Given the description of an element on the screen output the (x, y) to click on. 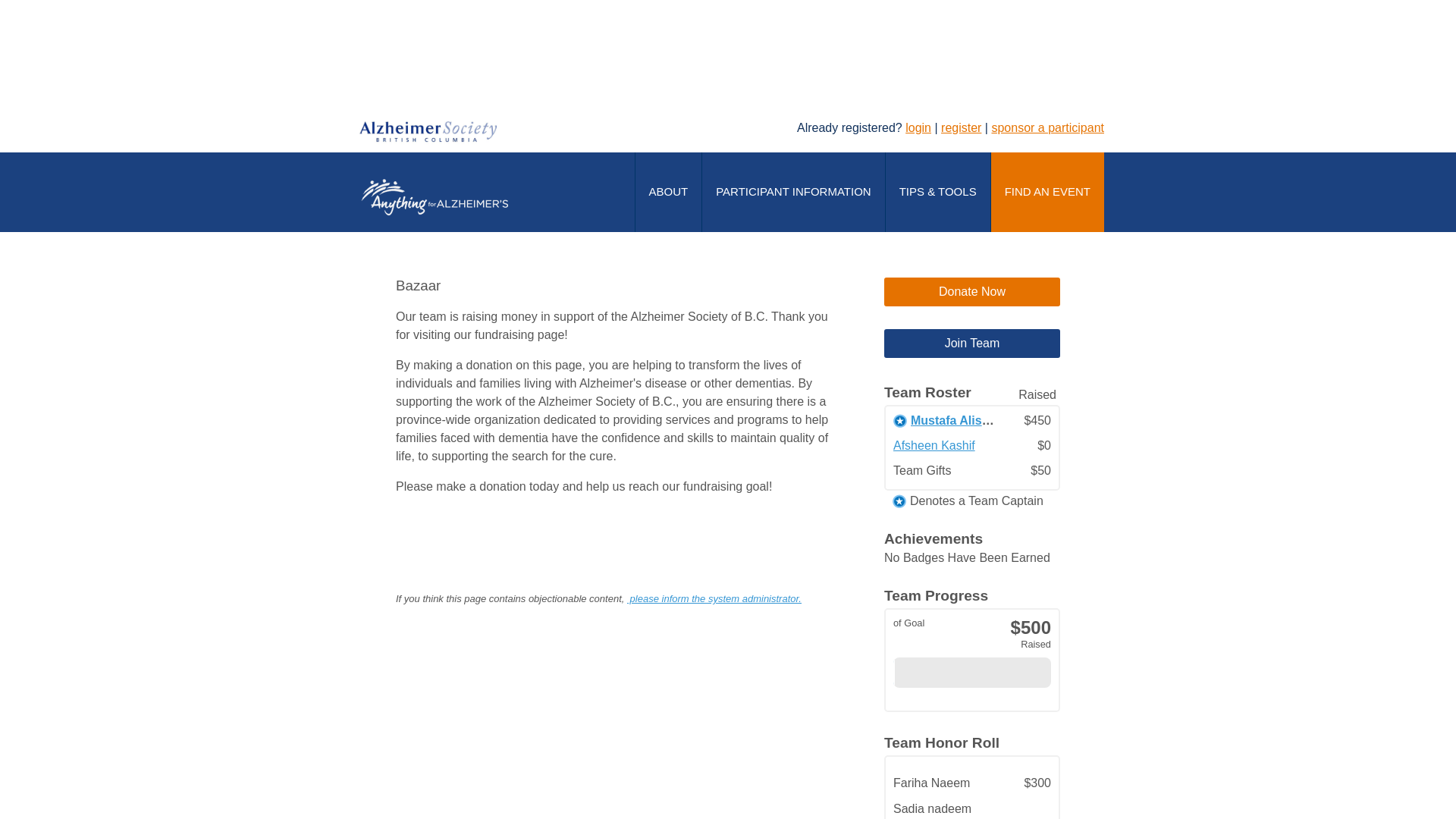
FIND AN EVENT Element type: text (1047, 192)
Join Team Element type: text (972, 343)
login Element type: text (918, 127)
sponsor a participant Element type: text (1047, 127)
ABOUT Element type: text (668, 192)
Donate Now Element type: text (972, 291)
Mustafa Alishah Element type: text (956, 420)
TIPS & TOOLS Element type: text (937, 192)
Afsheen Kashif Element type: text (934, 445)
register Element type: text (961, 127)
PARTICIPANT INFORMATION Element type: text (793, 192)
 please inform the system administrator. Element type: text (714, 598)
